Given the description of an element on the screen output the (x, y) to click on. 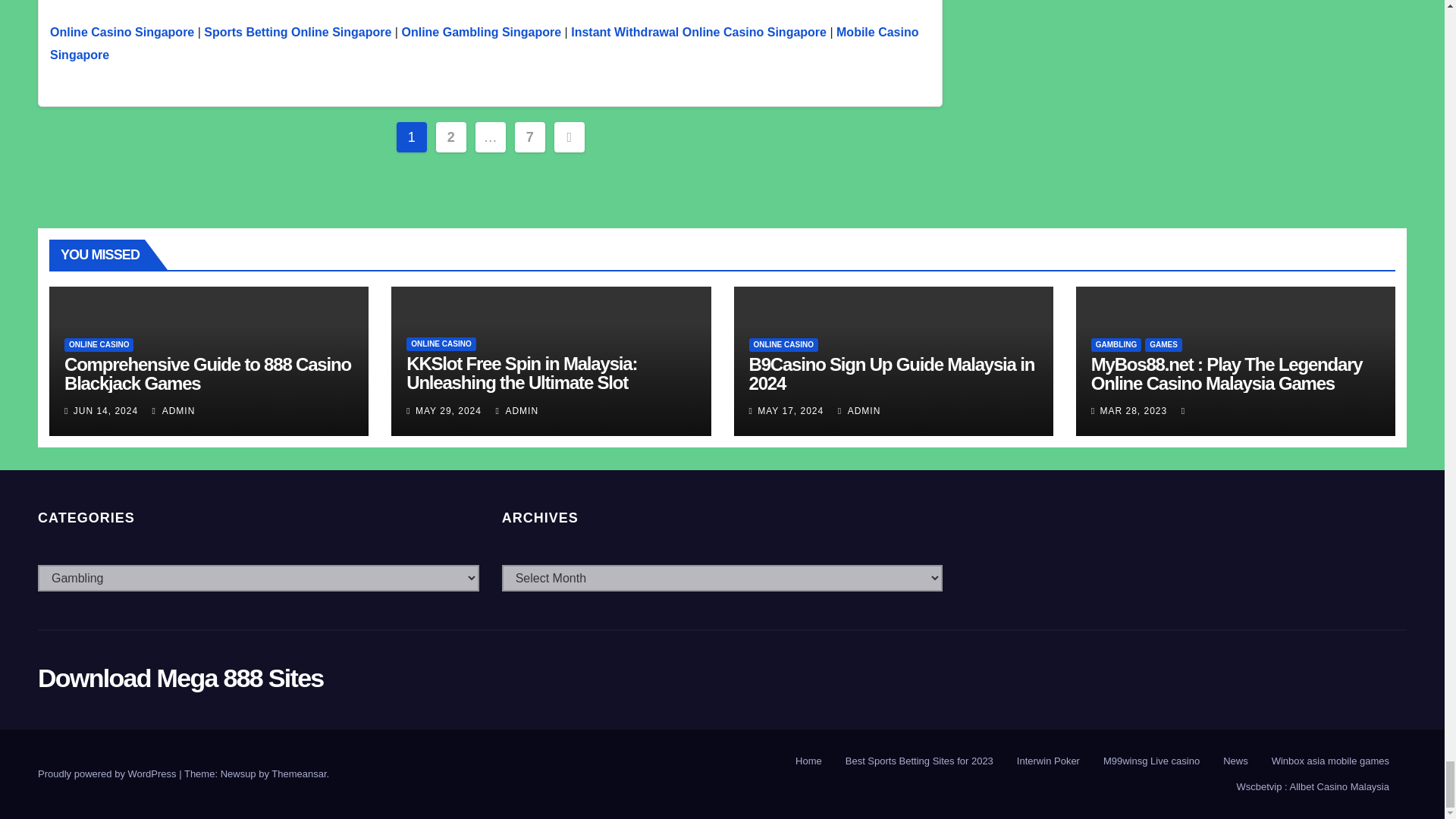
Home (808, 760)
Permalink to: B9Casino Sign Up Guide Malaysia in 2024 (892, 373)
